Given the description of an element on the screen output the (x, y) to click on. 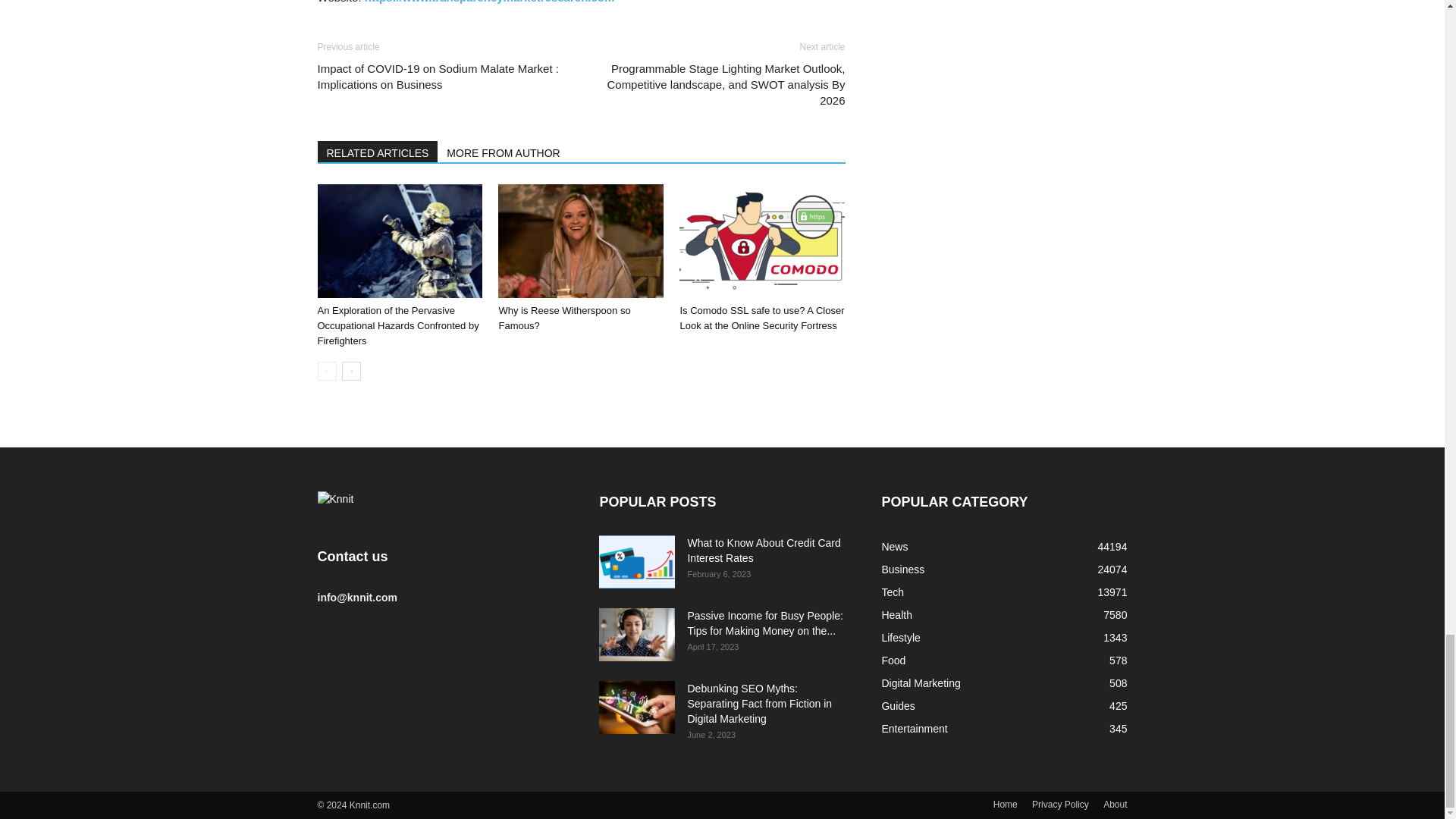
Why is Reese Witherspoon so Famous? (580, 241)
Why is Reese Witherspoon so Famous? (563, 317)
